Given the description of an element on the screen output the (x, y) to click on. 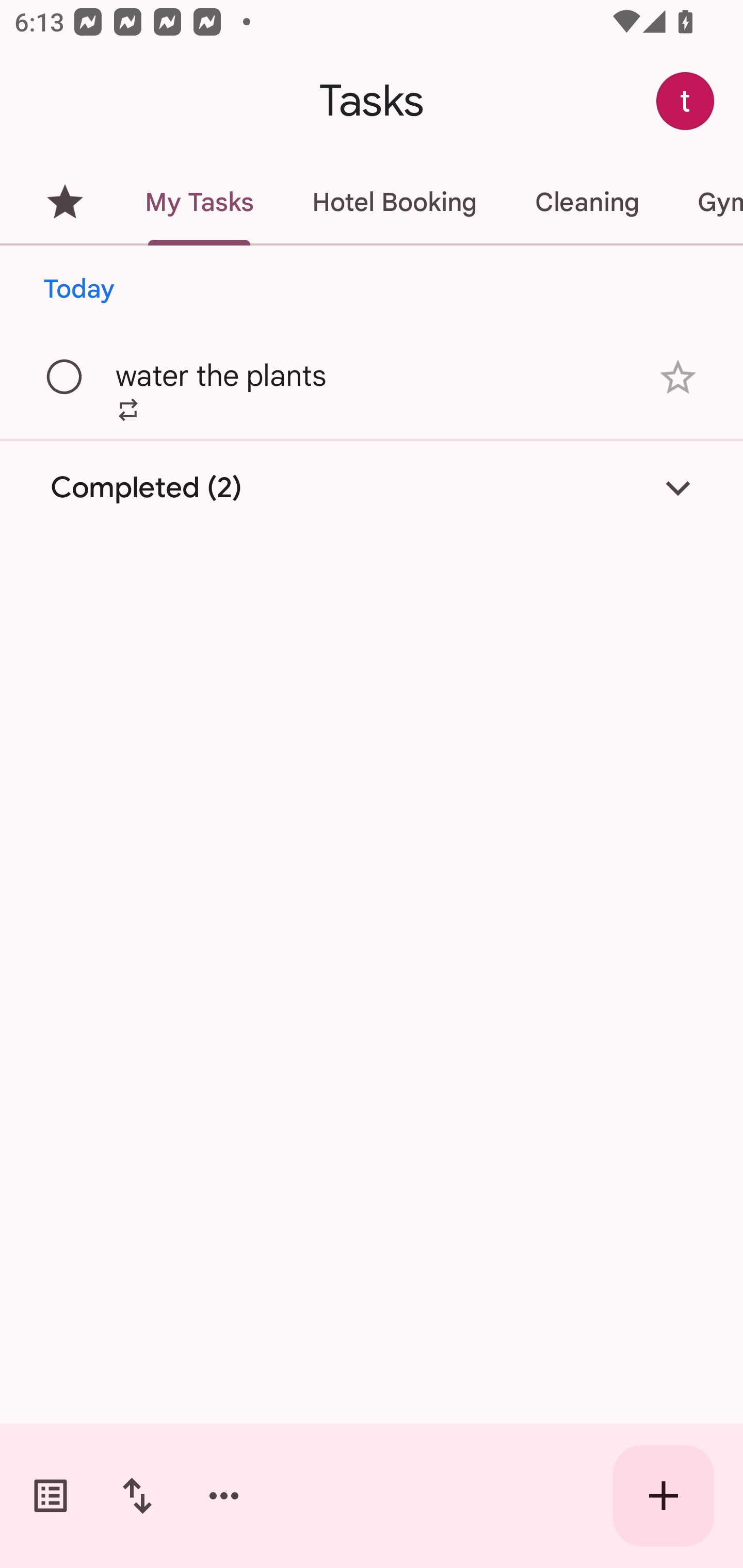
Starred (64, 202)
Hotel Booking (394, 202)
Cleaning (586, 202)
Add star (677, 376)
Mark as complete (64, 377)
Completed (2) (371, 487)
Switch task lists (50, 1495)
Create new task (663, 1495)
Change sort order (136, 1495)
More options (223, 1495)
